Given the description of an element on the screen output the (x, y) to click on. 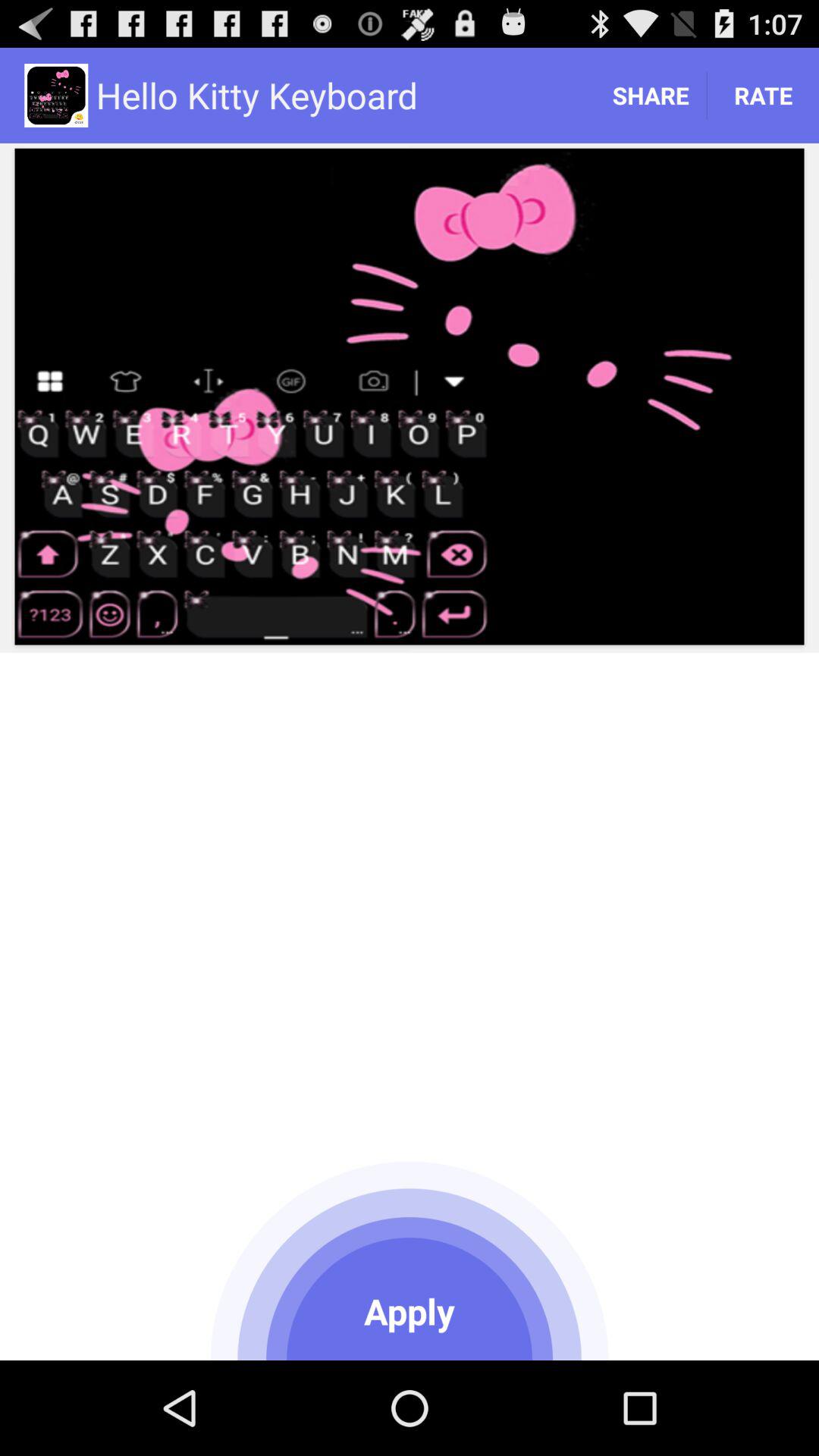
apply typed in configuration (409, 1257)
